Given the description of an element on the screen output the (x, y) to click on. 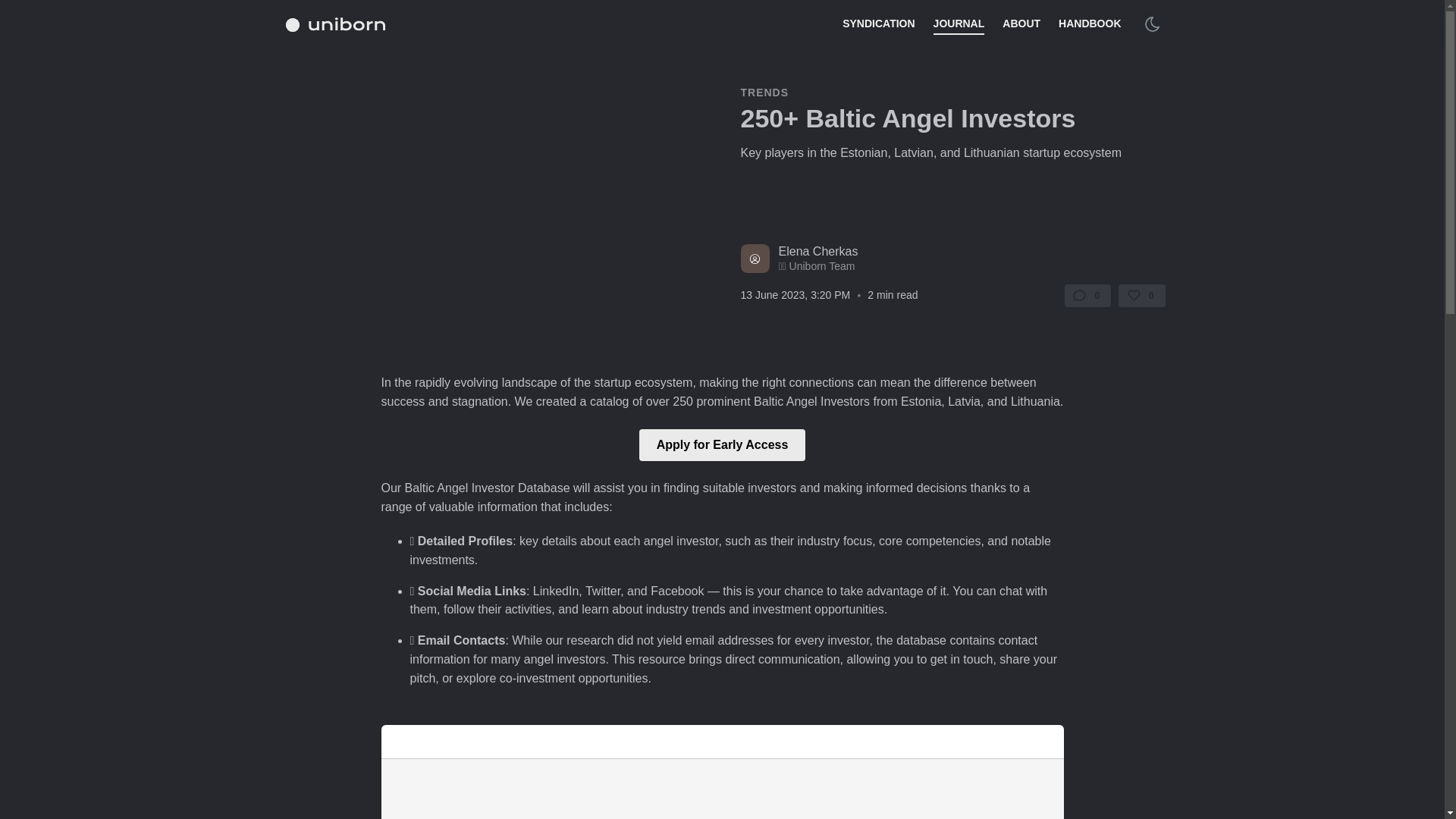
airtable (721, 771)
0 (1087, 295)
Apply for Early Access (722, 445)
SYNDICATION (878, 23)
0 (1141, 295)
ABOUT (1022, 23)
JOURNAL (959, 23)
HANDBOOK (1089, 23)
